Given the description of an element on the screen output the (x, y) to click on. 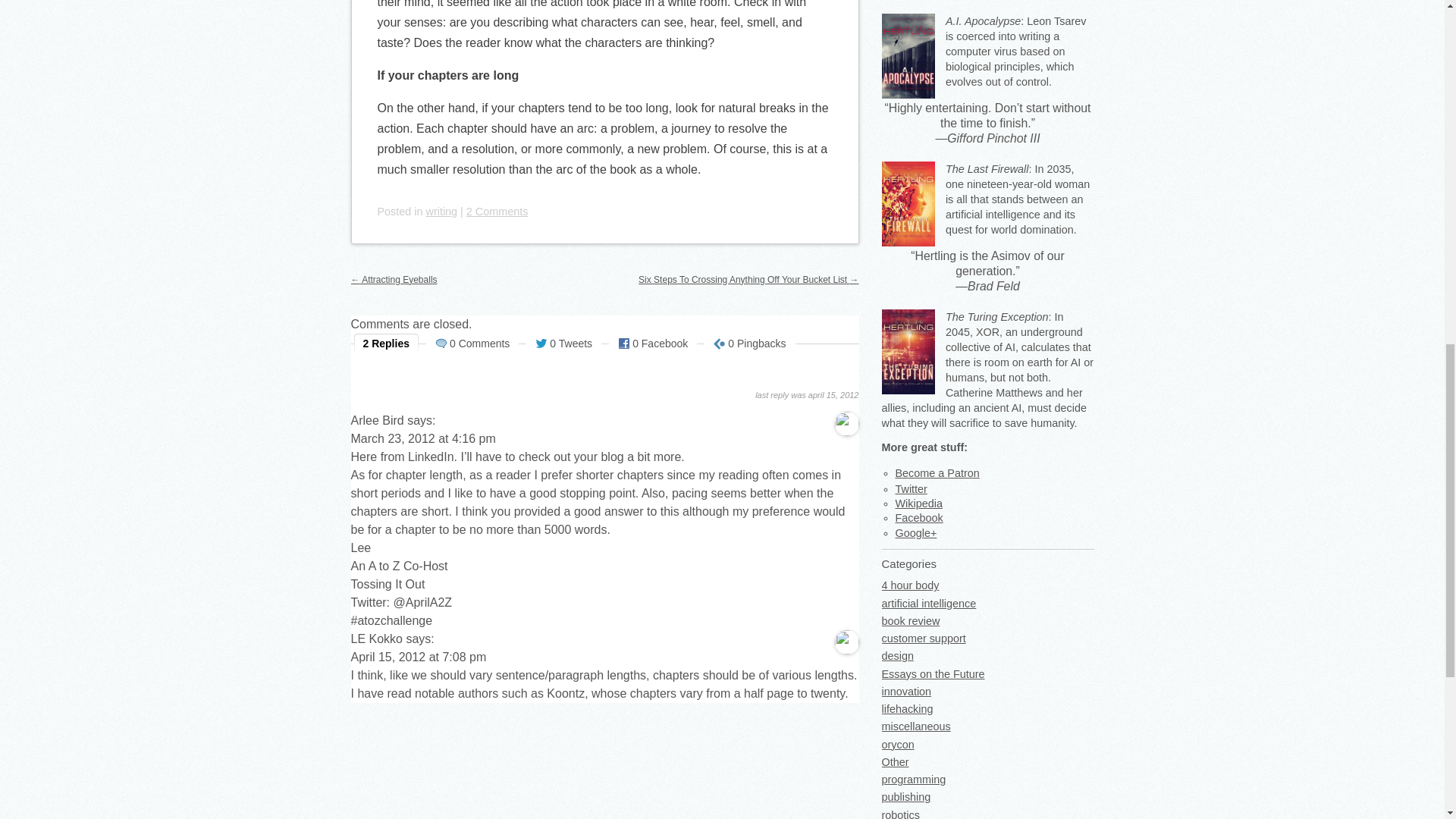
2 Comments (496, 211)
Arlee Bird (376, 420)
LE Kokko (375, 638)
0 Facebook (652, 344)
0 Tweets (563, 344)
0 Pingbacks (749, 344)
March 23, 2012 at 4:16 pm (422, 438)
0 Comments (472, 344)
2 Replies (386, 344)
Tossing It Out (387, 584)
